Given the description of an element on the screen output the (x, y) to click on. 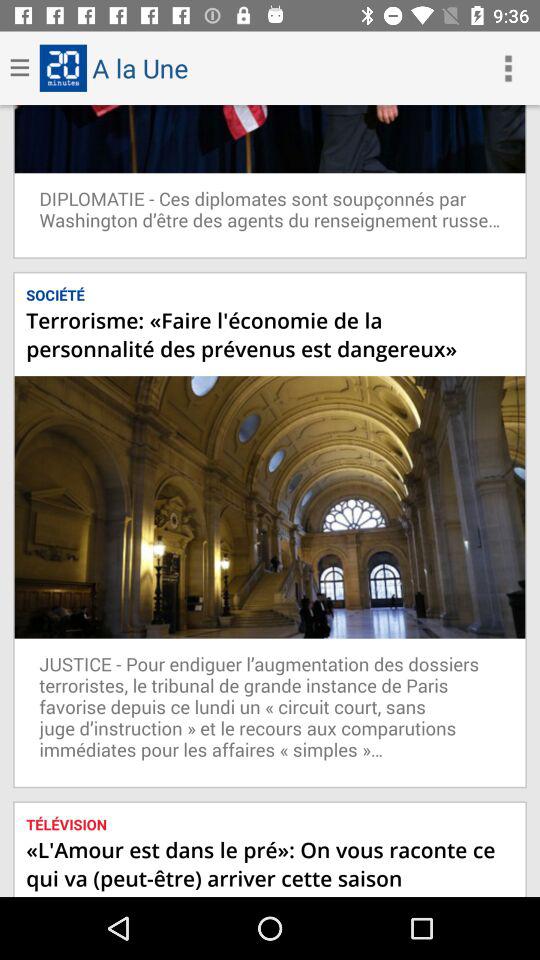
tap the item at the top right corner (508, 67)
